Given the description of an element on the screen output the (x, y) to click on. 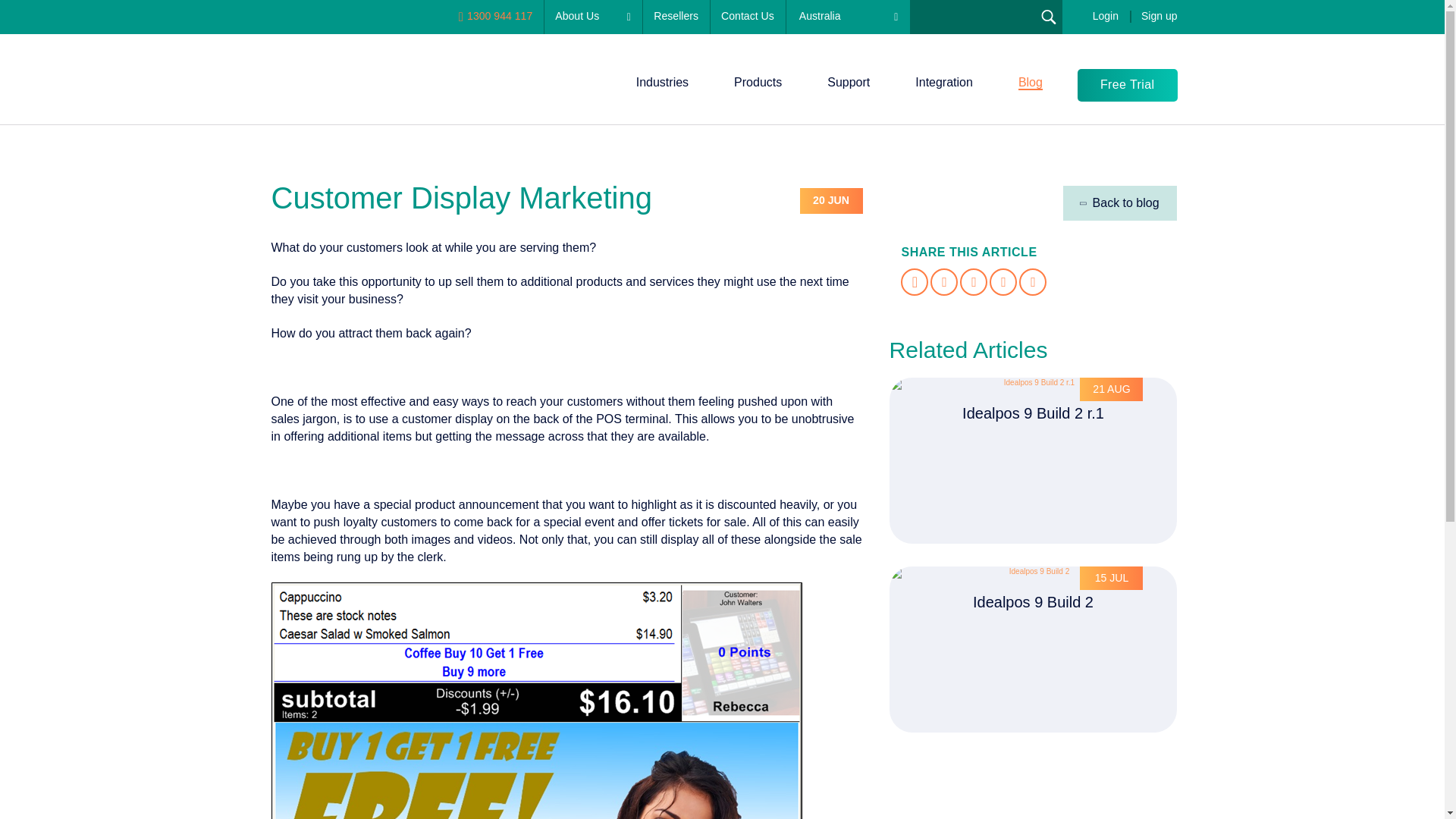
Share 'Customer Display Marketing' on Facebook (914, 281)
Products (757, 83)
Share 'Customer Display Marketing' on Google Plus (1003, 281)
About Us (592, 17)
Australia (848, 17)
Sign up (1158, 16)
Contact Us (748, 17)
Share 'Customer Display Marketing' via Email (1032, 281)
Share 'Customer Display Marketing' on LinkedIn (973, 281)
Industries (662, 83)
